Given the description of an element on the screen output the (x, y) to click on. 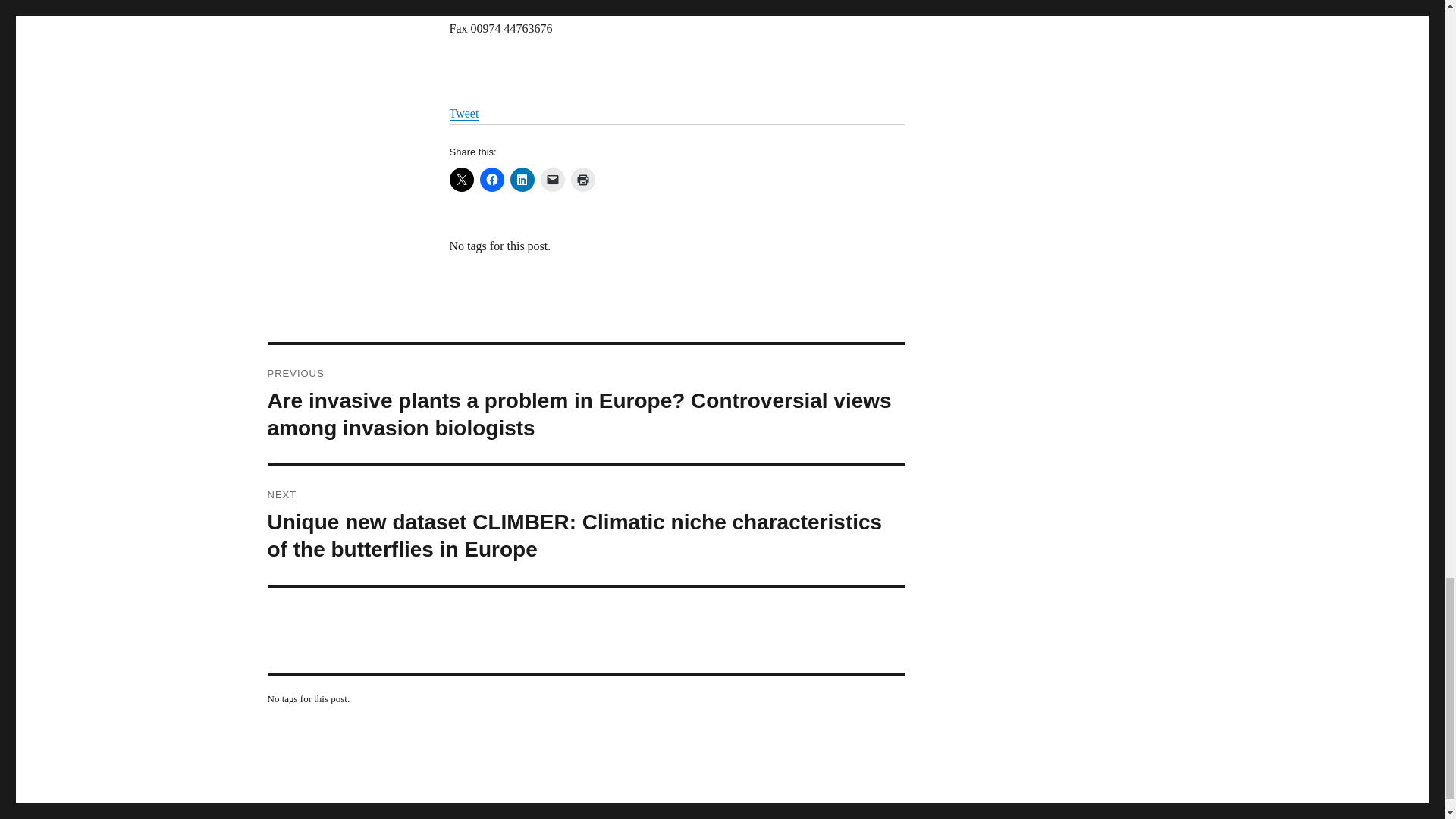
Click to share on Facebook (491, 179)
Click to share on LinkedIn (521, 179)
Click to share on X (460, 179)
Click to print (582, 179)
Click to email a link to a friend (552, 179)
Tweet (463, 113)
